Given the description of an element on the screen output the (x, y) to click on. 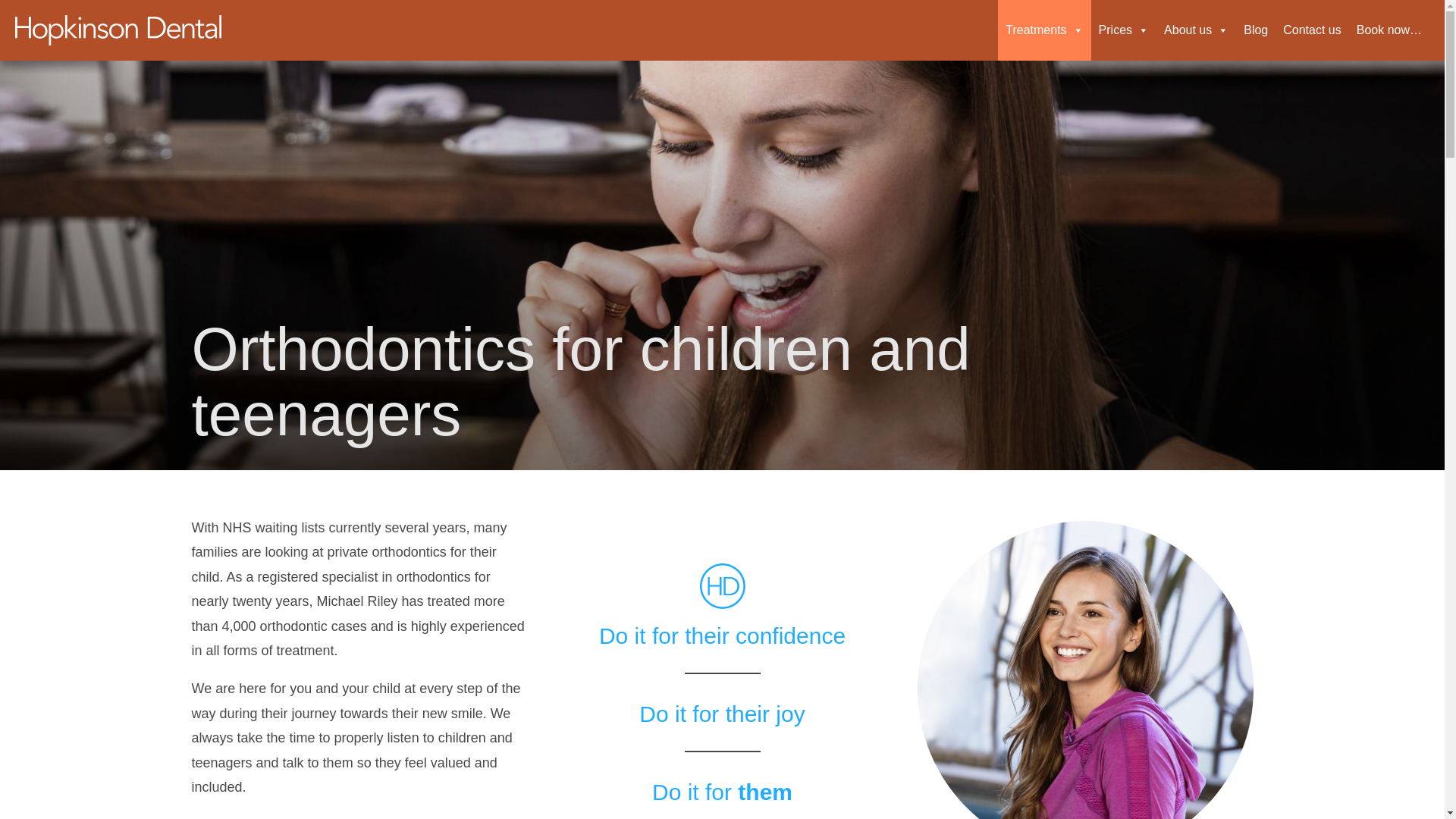
Prices (1123, 30)
Contact us (1311, 30)
Treatments (1043, 30)
About us (1196, 30)
